Given the description of an element on the screen output the (x, y) to click on. 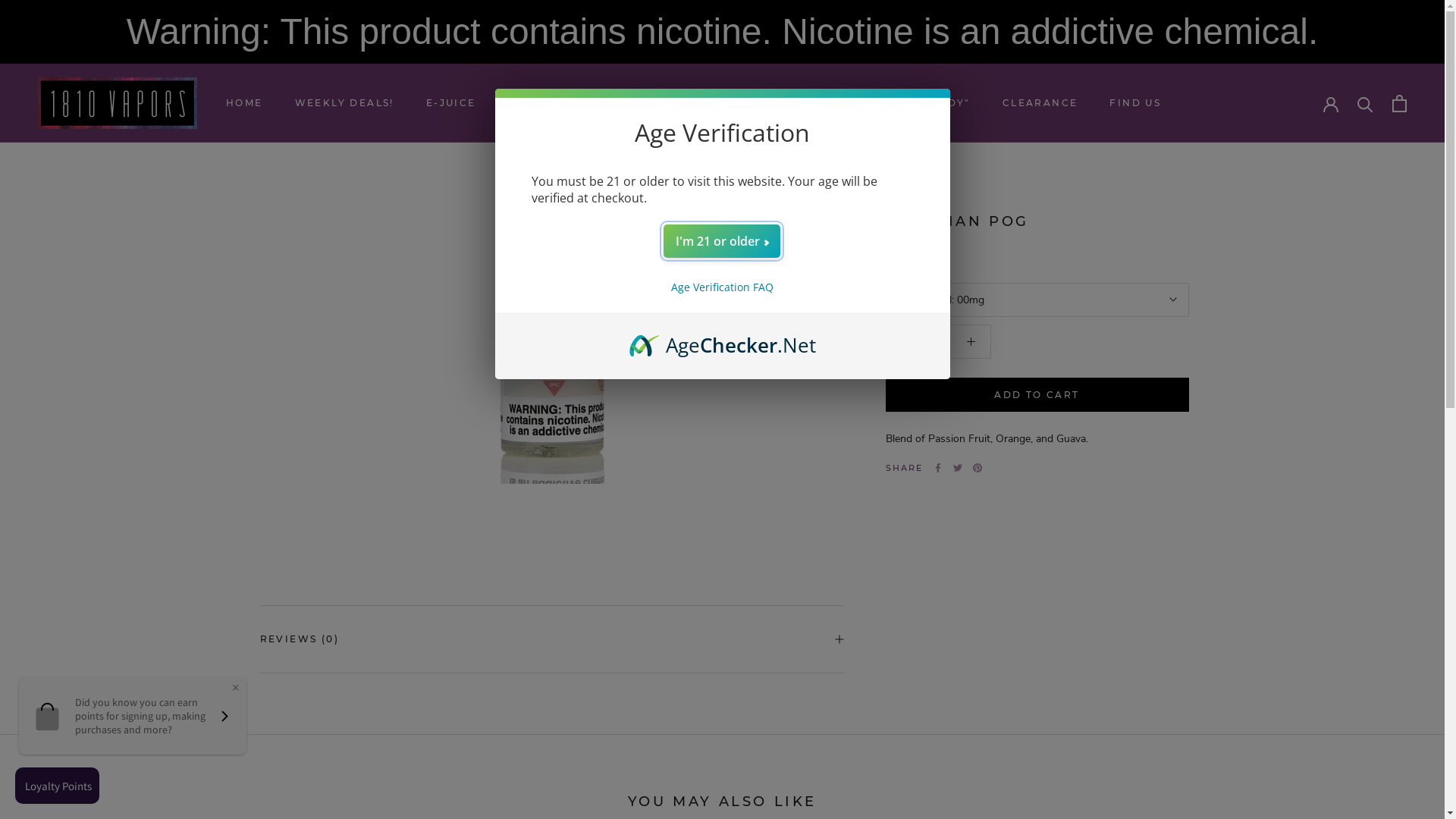
ADD TO CART Element type: text (1037, 394)
REVIEWS (0) Element type: text (551, 638)
AgeChecker.Net Element type: text (722, 338)
HARDWARE
HARDWARE Element type: text (544, 102)
"HEADY"
"HEADY" Element type: text (943, 102)
WEEKLY DEALS!
WEEKLY DEALS! Element type: text (344, 102)
LoyaltyLion beacon Element type: hover (59, 785)
SALT NIC
SALT NIC Element type: text (710, 102)
FIND US
FIND US Element type: text (1135, 102)
HOME
HOME Element type: text (244, 102)
EXTRAS
EXTRAS Element type: text (860, 102)
COILS
COILS Element type: text (631, 102)
PODS
PODS Element type: text (787, 102)
Age Verification FAQ Element type: text (722, 286)
Nicotine Lvl: 00mg Element type: text (1037, 299)
NAKED Element type: text (907, 187)
E-JUICE
E-JUICE Element type: text (451, 102)
CLEARANCE
CLEARANCE Element type: text (1040, 102)
